Given the description of an element on the screen output the (x, y) to click on. 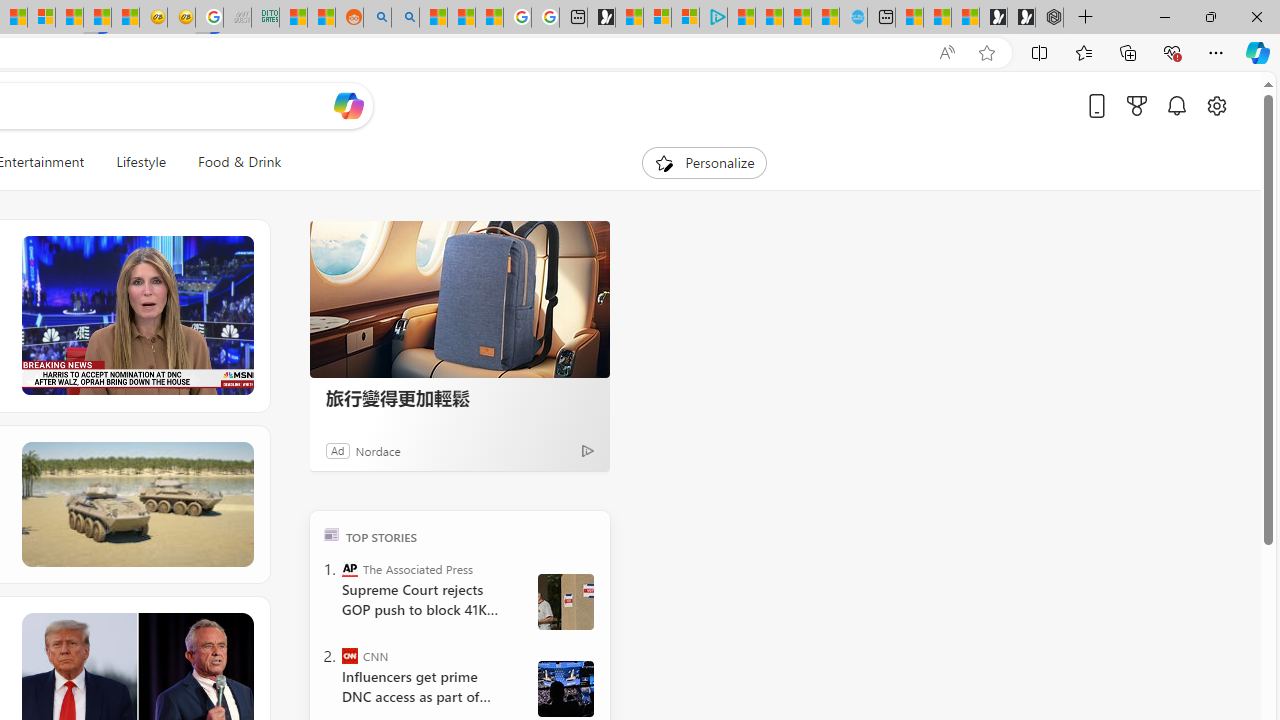
Lifestyle (141, 162)
Notifications (1176, 105)
Microsoft rewards (1137, 105)
